Given the description of an element on the screen output the (x, y) to click on. 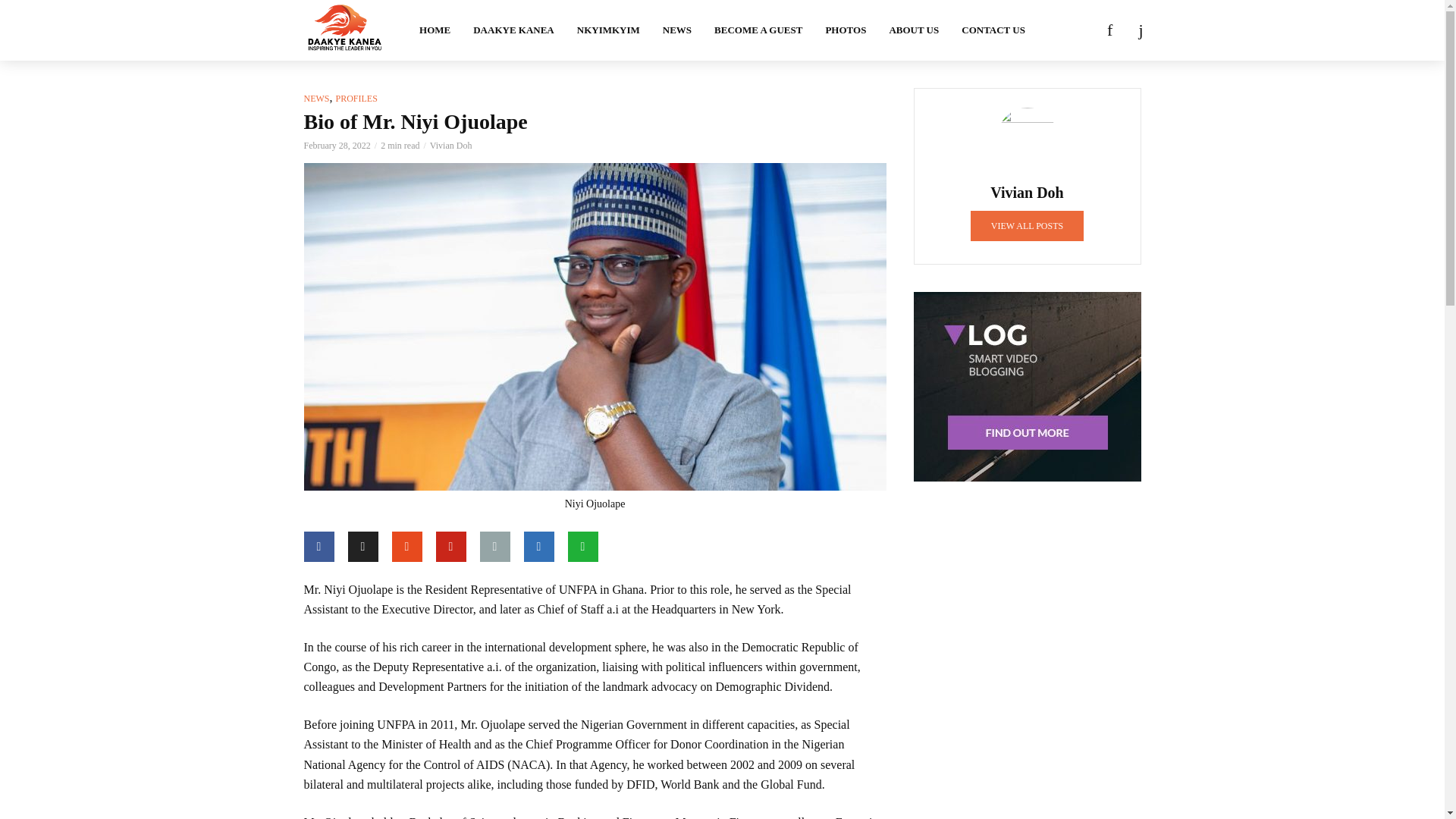
BECOME A GUEST (758, 30)
DAAKYE KANEA (513, 30)
NEWS (676, 30)
PHOTOS (845, 30)
HOME (434, 30)
NKYIMKYIM (608, 30)
CONTACT US (993, 30)
ABOUT US (913, 30)
